Given the description of an element on the screen output the (x, y) to click on. 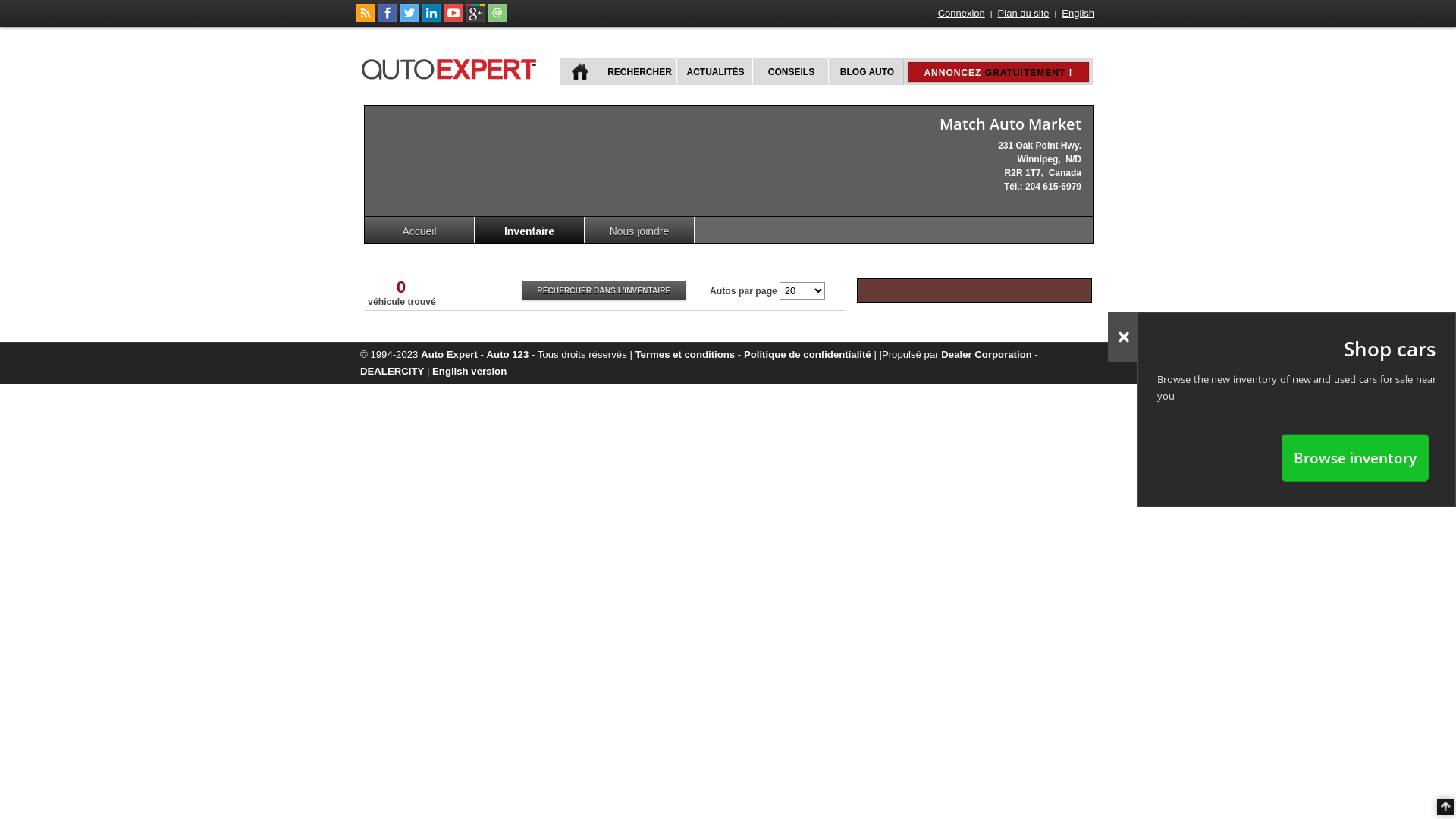
Suivez autoExpert.ca sur Google Plus Element type: hover (475, 18)
autoExpert.ca Element type: text (451, 66)
Suivez autoExpert.ca sur Youtube Element type: hover (453, 18)
English Element type: text (1077, 13)
Termes et conditions Element type: text (685, 354)
Connexion Element type: text (961, 13)
English version Element type: text (469, 370)
Auto 123 Element type: text (507, 354)
CONSEILS Element type: text (789, 71)
RECHERCHER DANS L'INVENTAIRE Element type: text (603, 290)
Browse inventory Element type: text (1354, 457)
Dealer Corporation Element type: text (986, 354)
ACCUEIL Element type: text (580, 71)
ANNONCEZ GRATUITEMENT ! Element type: text (997, 71)
Suivez autoExpert.ca sur Twitter Element type: hover (409, 18)
Suivez autoExpert.ca sur Facebook Element type: hover (387, 18)
Plan du site Element type: text (1023, 13)
Auto Expert Element type: text (448, 354)
Accueil Element type: text (419, 229)
RECHERCHER Element type: text (637, 71)
Nous joindre Element type: text (639, 229)
Inventaire Element type: text (529, 229)
Suivez Publications Le Guide Inc. sur LinkedIn Element type: hover (431, 18)
DEALERCITY Element type: text (391, 370)
BLOG AUTO Element type: text (865, 71)
Joindre autoExpert.ca Element type: hover (497, 18)
